Given the description of an element on the screen output the (x, y) to click on. 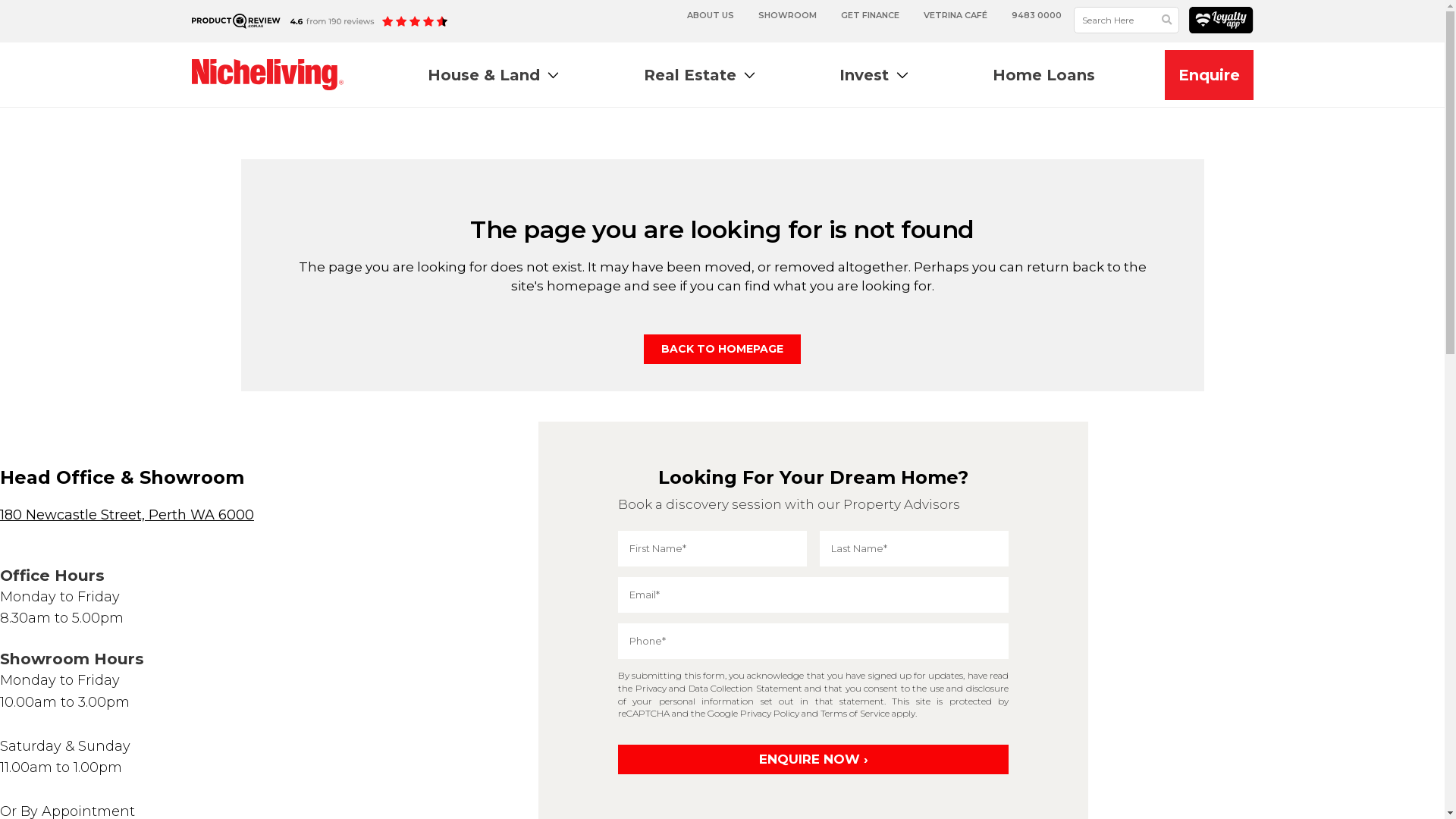
9483 0000 Element type: text (1036, 15)
House & Land Element type: text (493, 74)
GET FINANCE Element type: text (869, 15)
Enquire Element type: text (1208, 75)
ABOUT US Element type: text (710, 15)
Privacy and Data Collection Statement Element type: text (718, 687)
Privacy Policy Element type: text (769, 712)
Home Loans Element type: text (1043, 74)
SHOWROOM Element type: text (787, 15)
Real Estate Element type: text (699, 74)
Terms of Service Element type: text (854, 712)
Invest Element type: text (873, 74)
Top Element type: text (1408, 782)
BACK TO HOMEPAGE Element type: text (721, 349)
180 Newcastle Street, Perth WA 6000 Element type: text (127, 514)
